Given the description of an element on the screen output the (x, y) to click on. 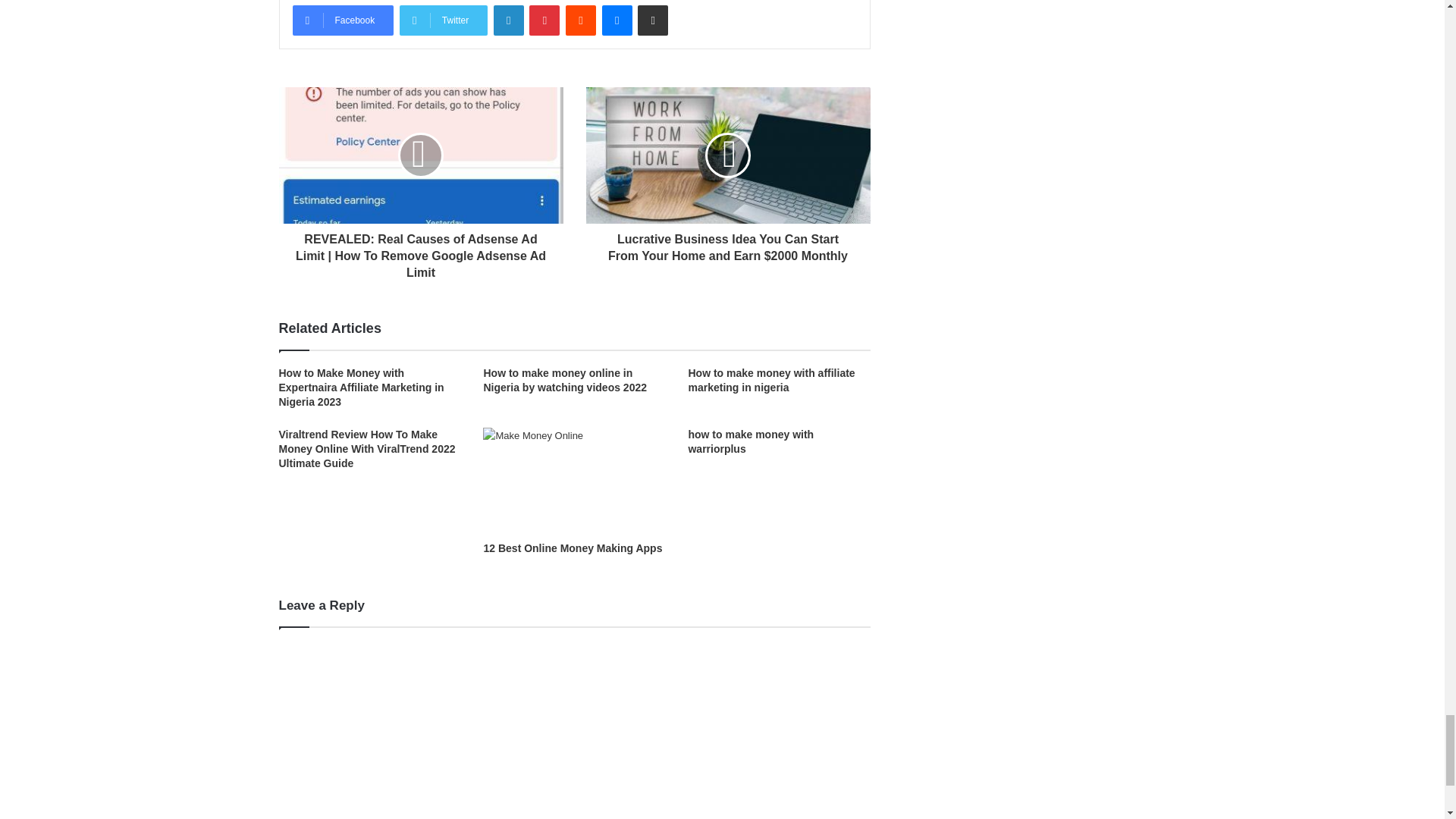
Facebook (343, 20)
Twitter (442, 20)
Reddit (580, 20)
Reddit (580, 20)
LinkedIn (508, 20)
Messenger (616, 20)
Pinterest (544, 20)
Pinterest (544, 20)
Twitter (442, 20)
Facebook (343, 20)
